Given the description of an element on the screen output the (x, y) to click on. 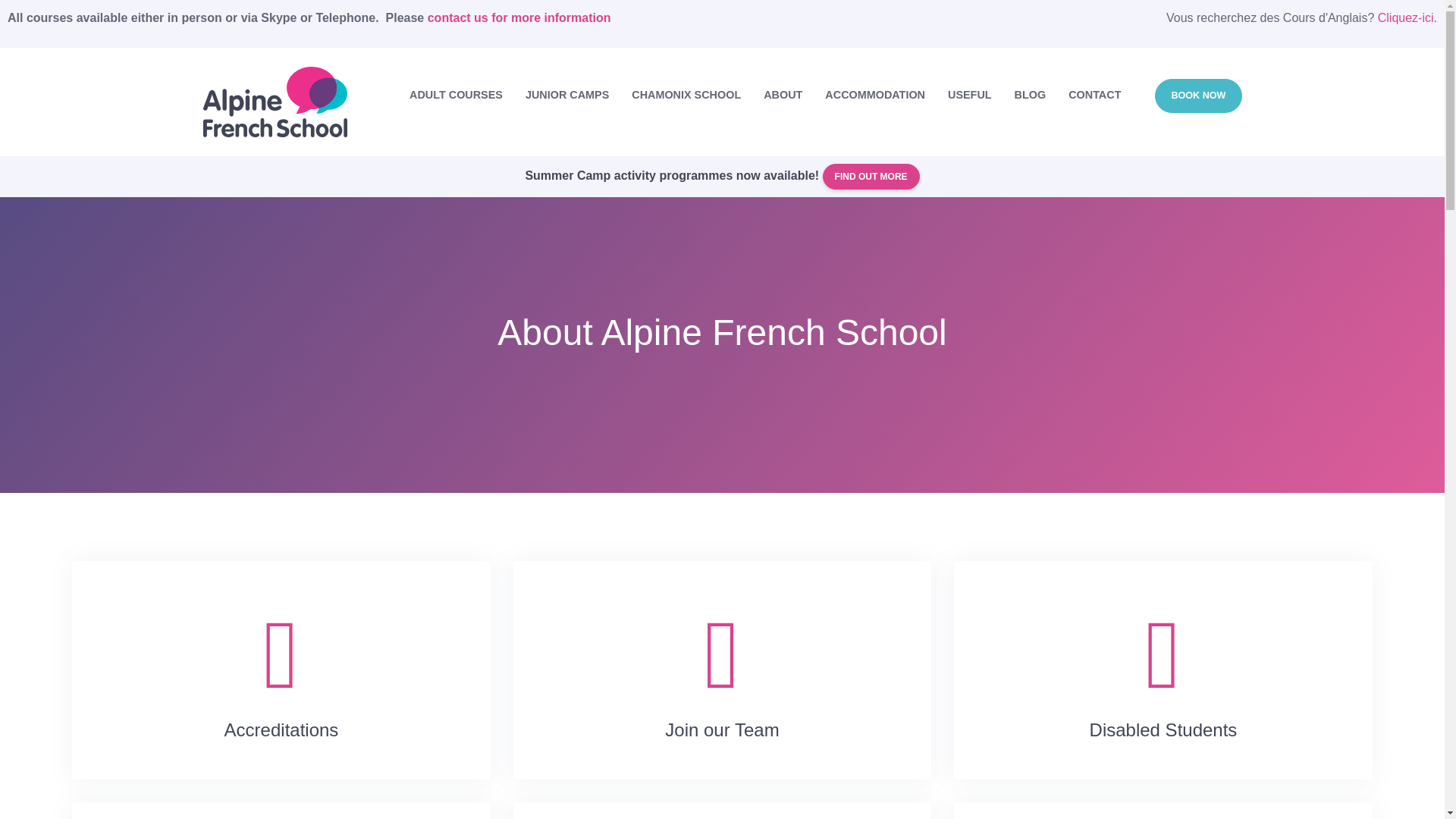
Adult Courses (455, 95)
contact us for more information (519, 17)
CHAMONIX SCHOOL (686, 95)
Chamonix School (686, 95)
JUNIOR CAMPS (566, 95)
ACCOMMODATION (874, 95)
ADULT COURSES (455, 95)
Cliquez-ici (1405, 17)
Junior Camps (566, 95)
ABOUT (782, 95)
BLOG (1030, 95)
USEFUL (969, 95)
